Given the description of an element on the screen output the (x, y) to click on. 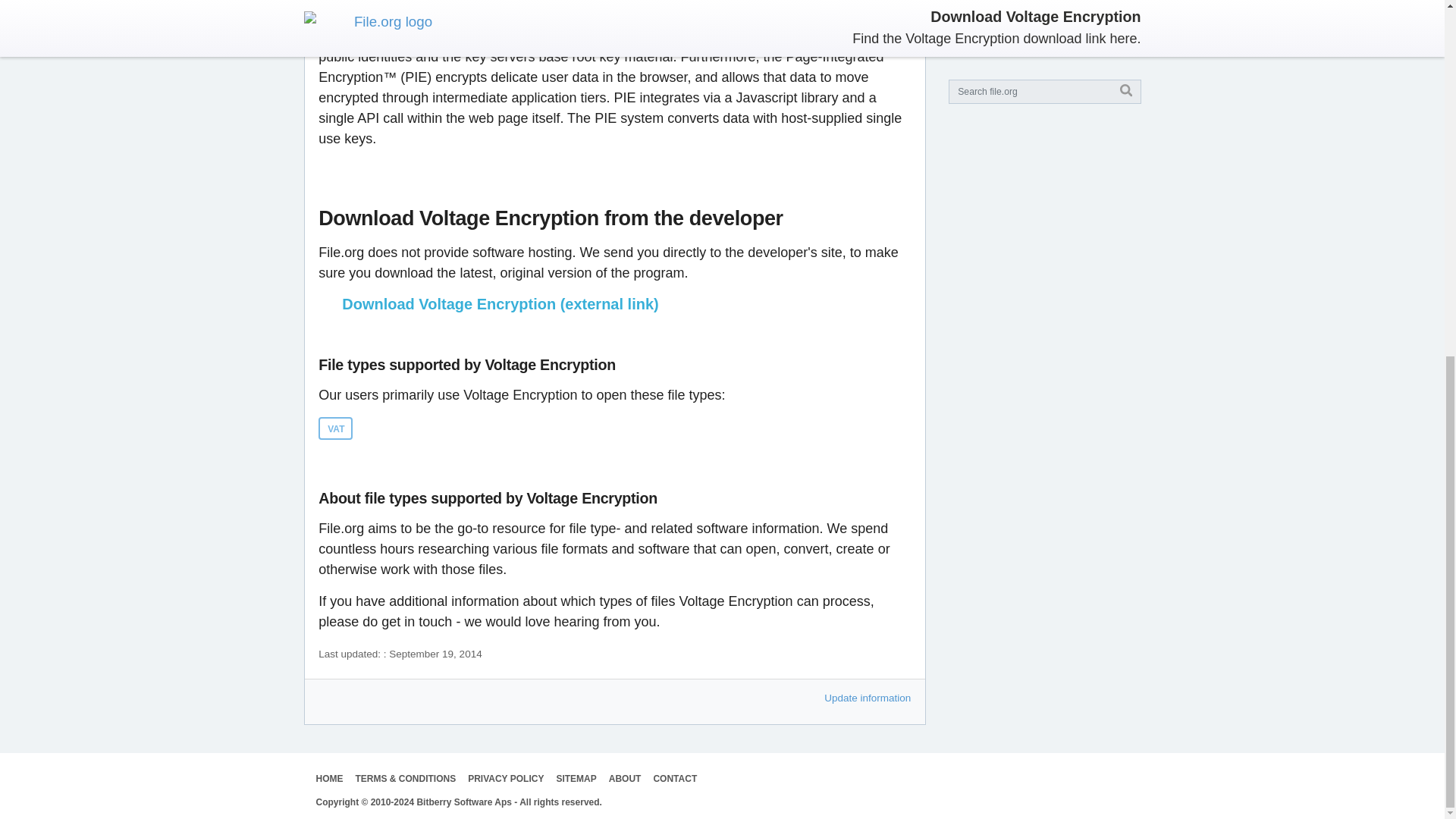
CONTACT (674, 778)
HOME (328, 778)
PRIVACY POLICY (505, 778)
VAT (335, 427)
Click to download Voltage Encryption (614, 303)
SITEMAP (575, 778)
ABOUT (625, 778)
Update information (867, 697)
